Given the description of an element on the screen output the (x, y) to click on. 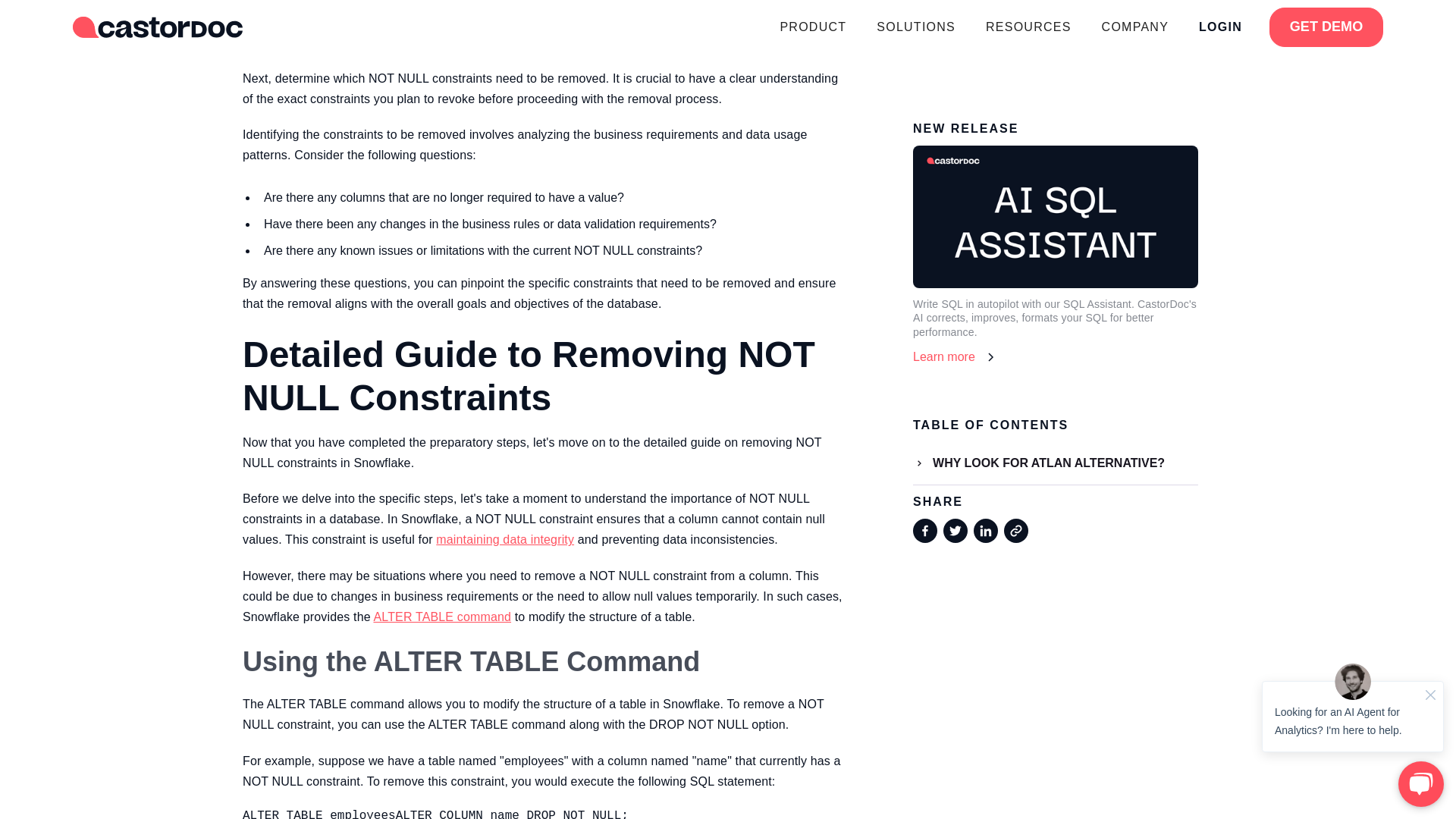
ALTER TABLE command (441, 616)
maintaining data integrity (504, 539)
